Given the description of an element on the screen output the (x, y) to click on. 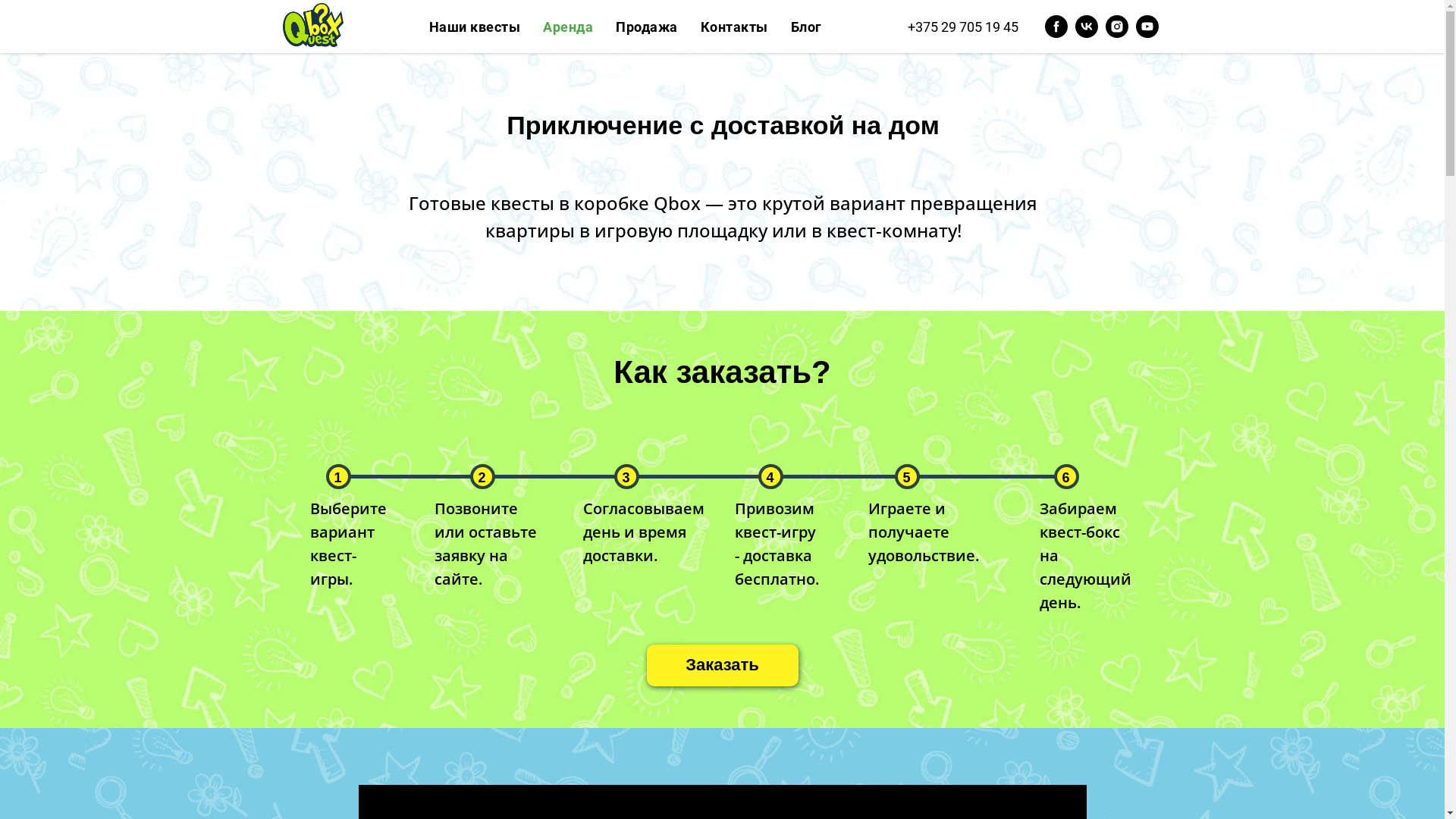
+375 29 705 19 45 Element type: text (961, 26)
